Given the description of an element on the screen output the (x, y) to click on. 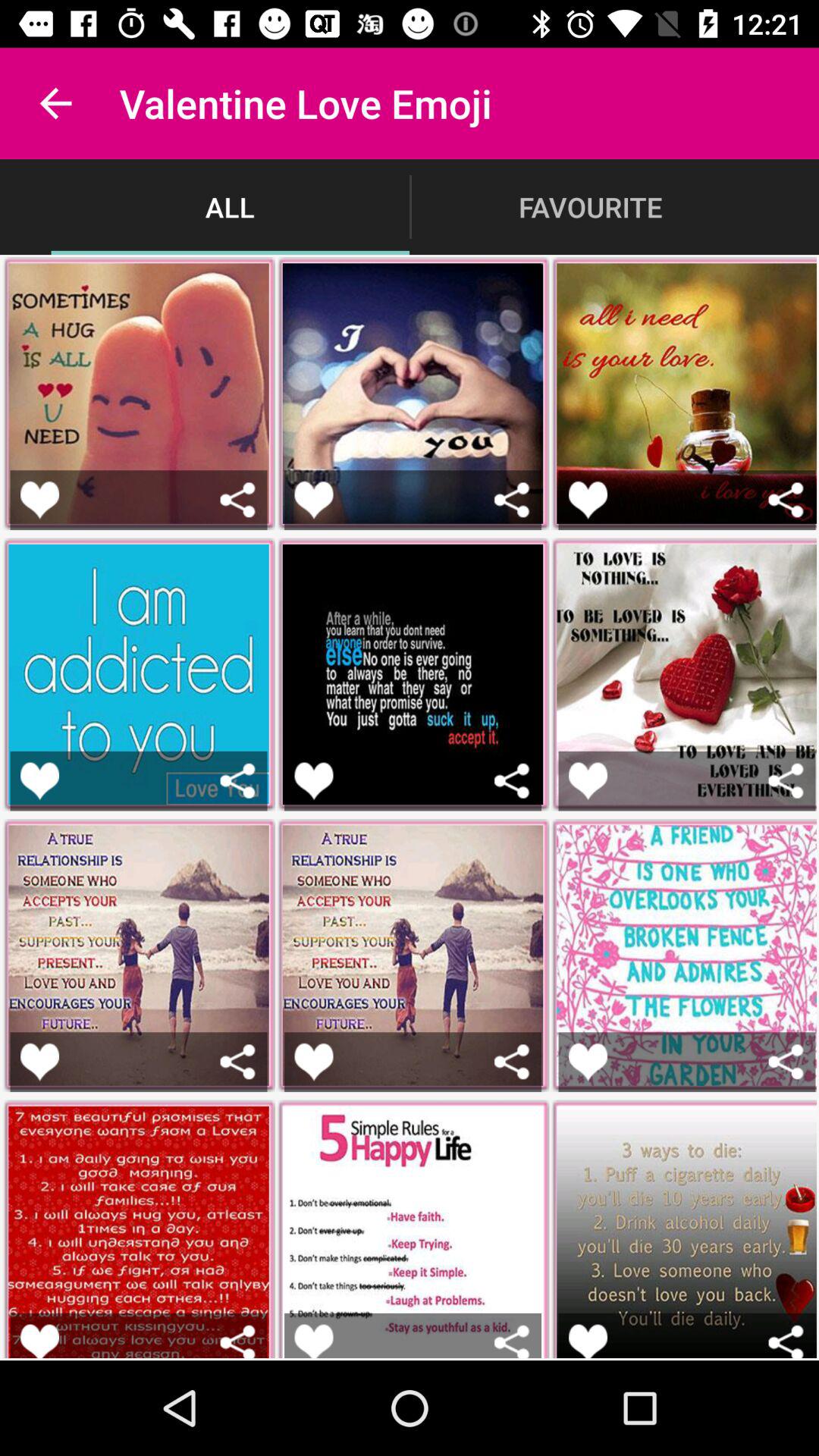
share post (785, 780)
